Given the description of an element on the screen output the (x, y) to click on. 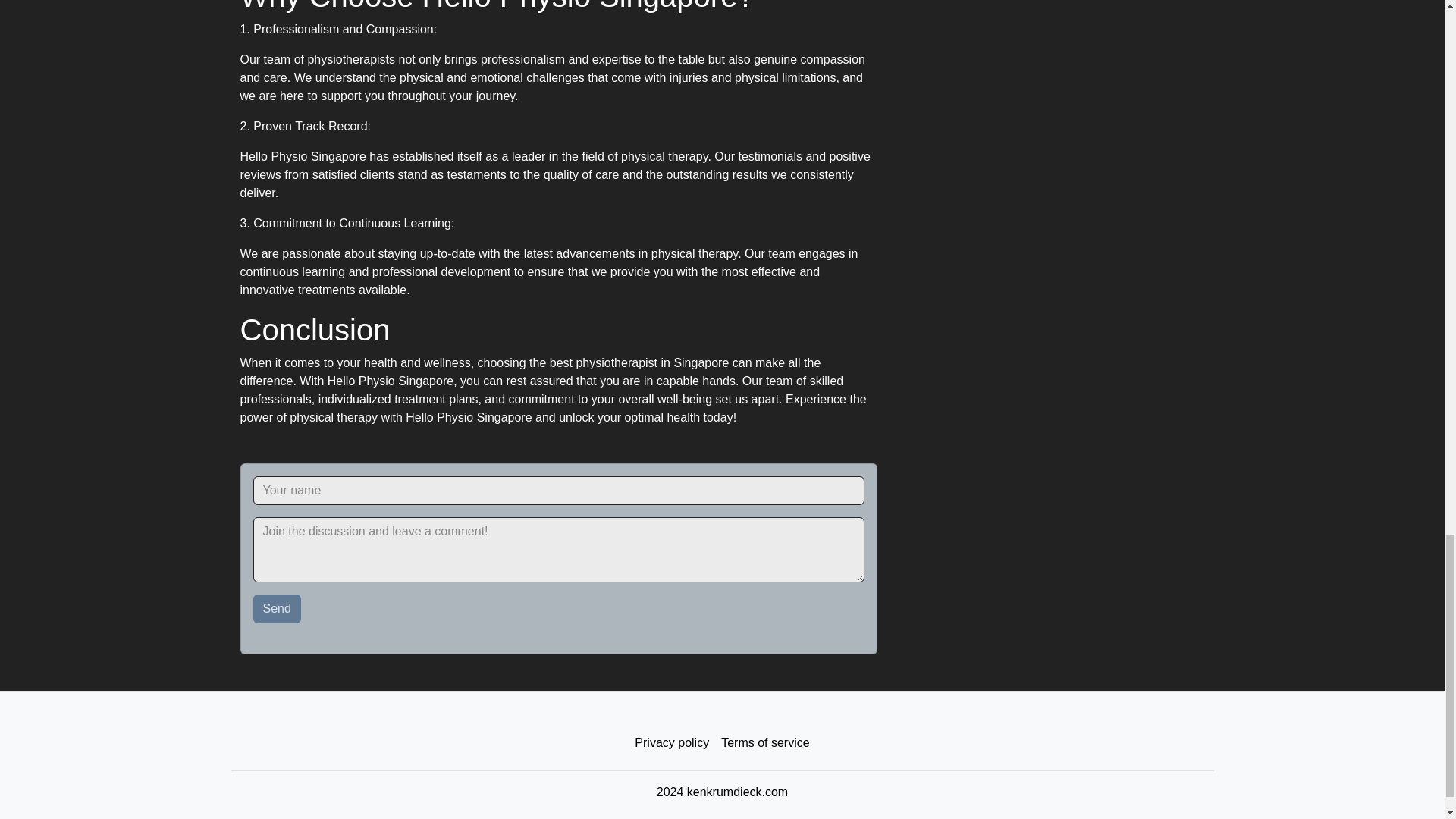
Send (277, 608)
Send (277, 608)
Privacy policy (671, 743)
Terms of service (764, 743)
